Given the description of an element on the screen output the (x, y) to click on. 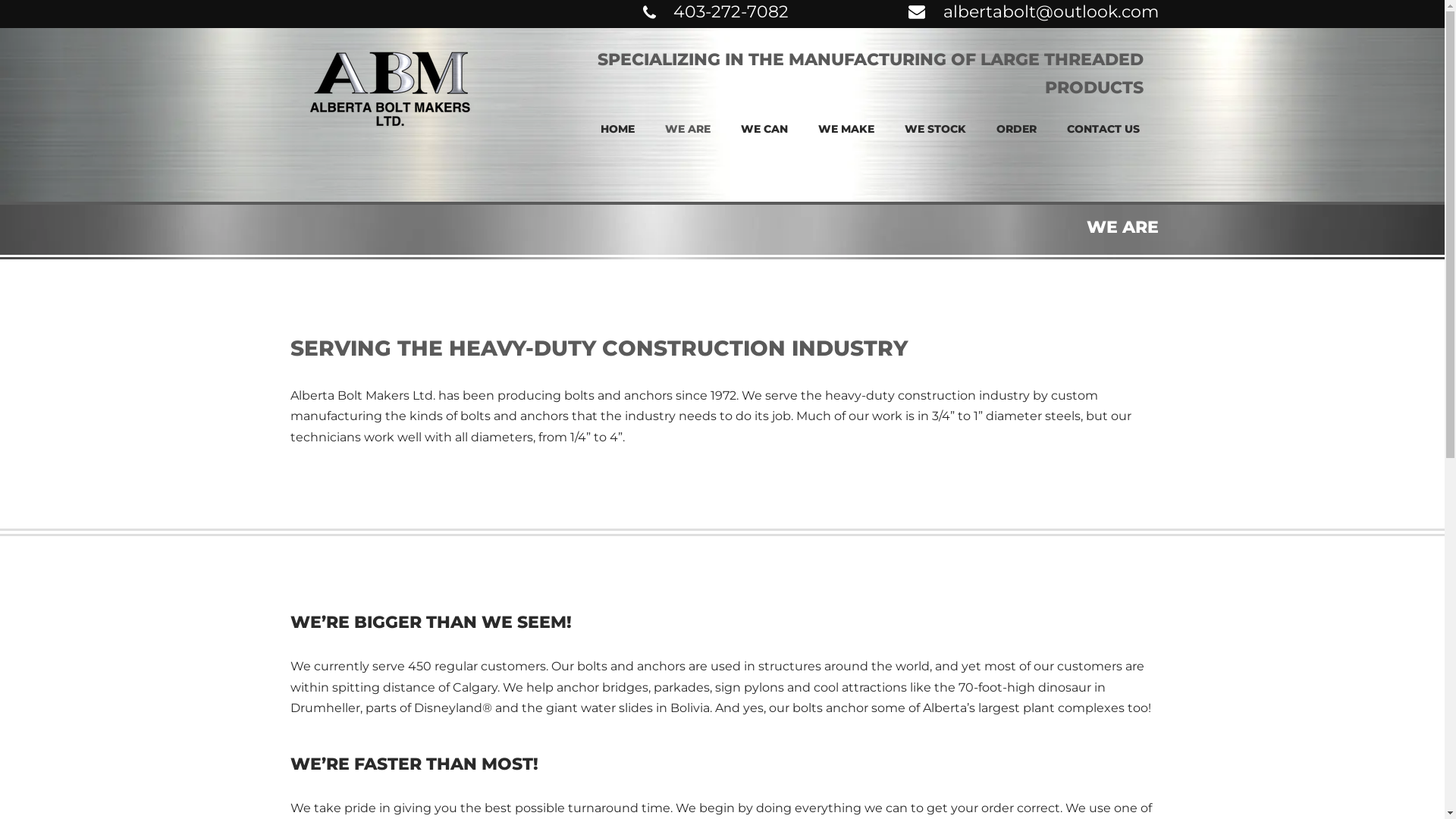
WE ARE Element type: text (686, 128)
403-272-7082 Element type: text (730, 11)
WE STOCK Element type: text (934, 128)
WE CAN Element type: text (763, 128)
CONTACT US Element type: text (1102, 128)
HOME Element type: text (617, 128)
albertabolt@outlook.com Element type: text (1050, 11)
WE MAKE Element type: text (845, 128)
ORDER Element type: text (1016, 128)
